Given the description of an element on the screen output the (x, y) to click on. 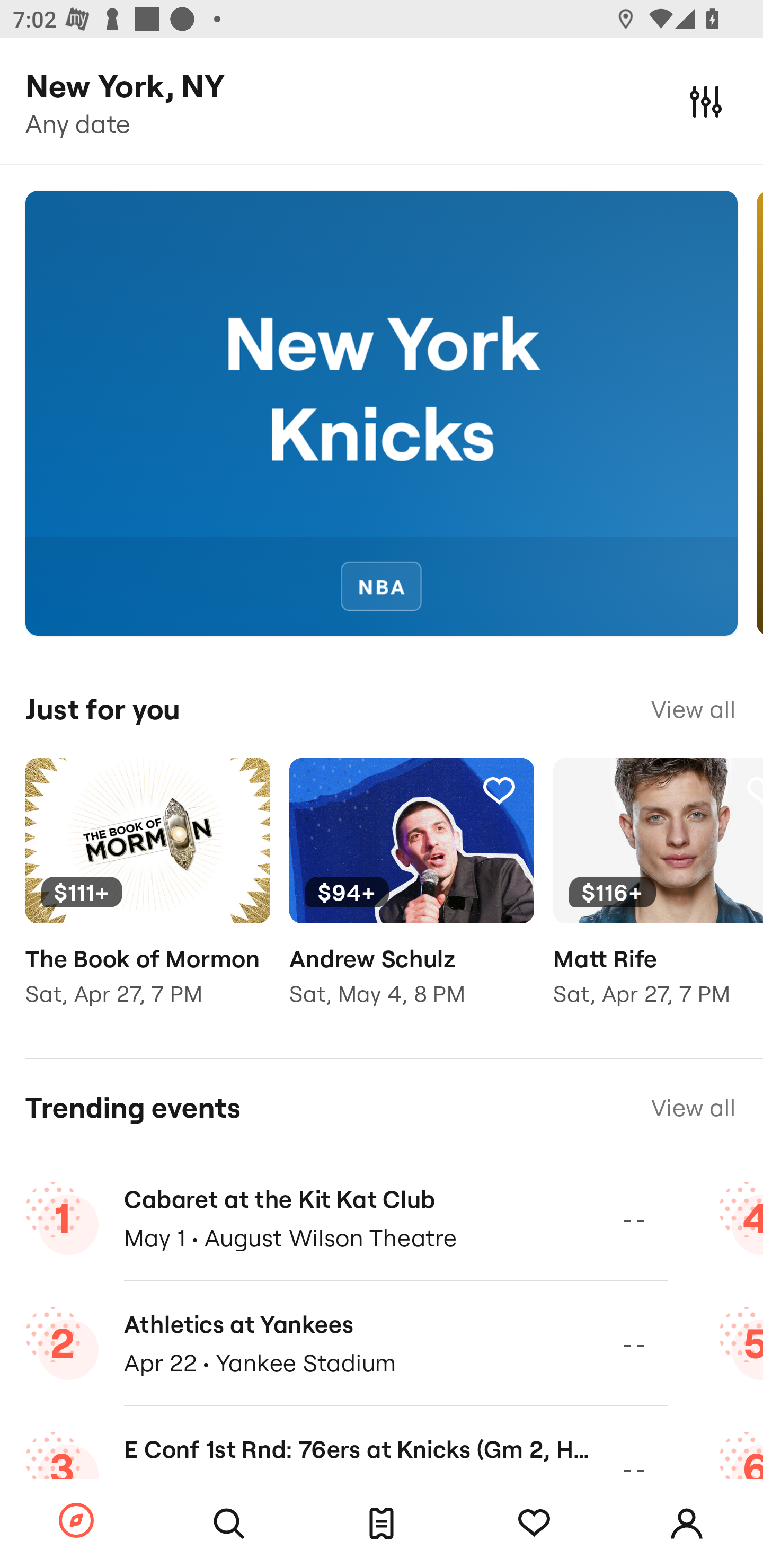
Filters (705, 100)
View all (693, 709)
Tracking $94+ Andrew Schulz Sat, May 4, 8 PM (411, 895)
Tracking $116+ Matt Rife Sat, Apr 27, 7 PM (658, 895)
Tracking (234, 790)
Tracking (498, 790)
View all (693, 1108)
Browse (76, 1521)
Search (228, 1523)
Tickets (381, 1523)
Tracking (533, 1523)
Account (686, 1523)
